Given the description of an element on the screen output the (x, y) to click on. 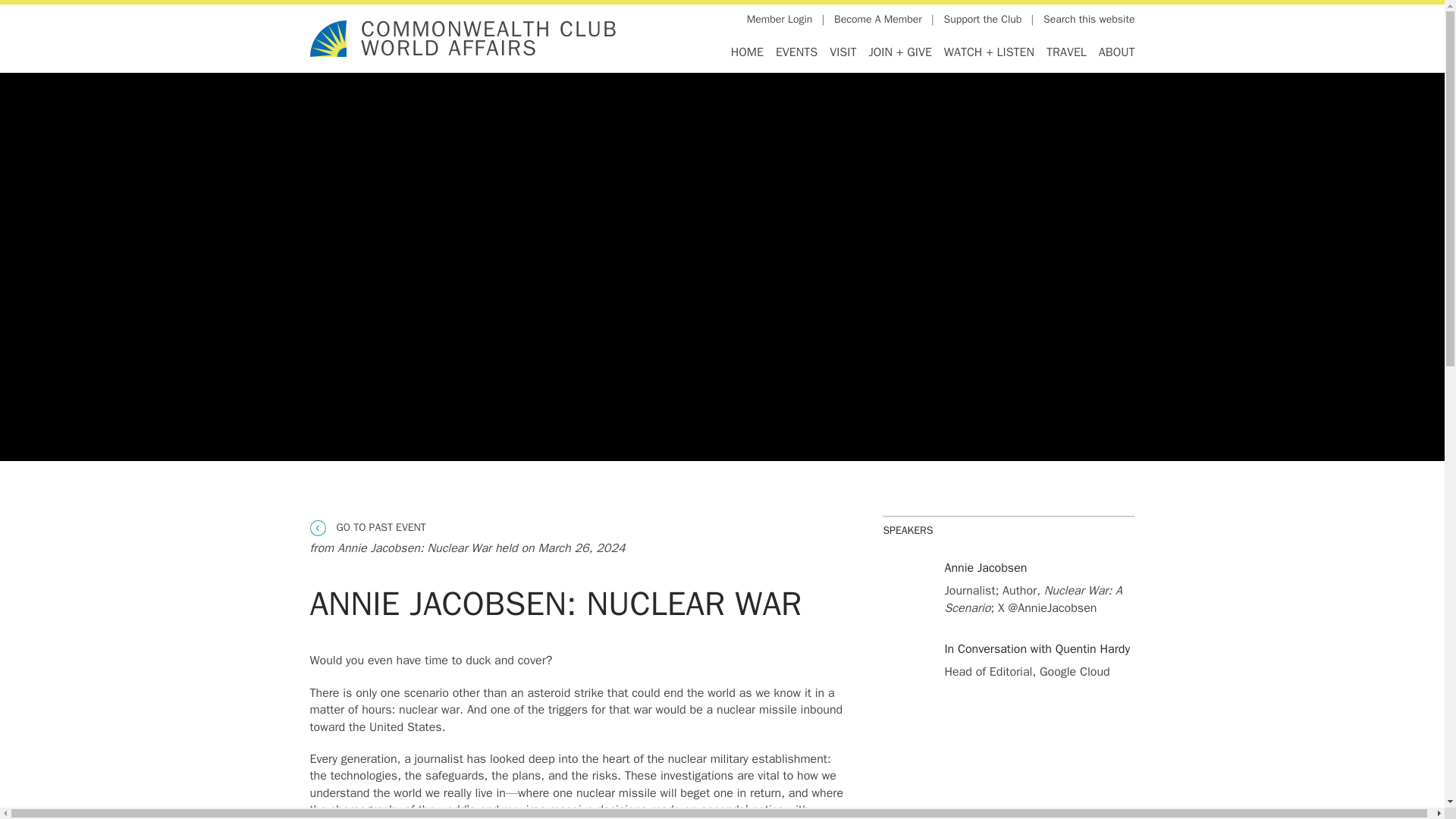
COMMONWEALTH CLUB WORLD AFFAIRS (489, 38)
HOME (747, 51)
VISIT (842, 51)
EVENTS (797, 51)
Become A Member (877, 19)
About (1114, 51)
Member Login (779, 19)
Support the Club (982, 19)
Search this website (1089, 19)
Visit the Club (842, 51)
